Given the description of an element on the screen output the (x, y) to click on. 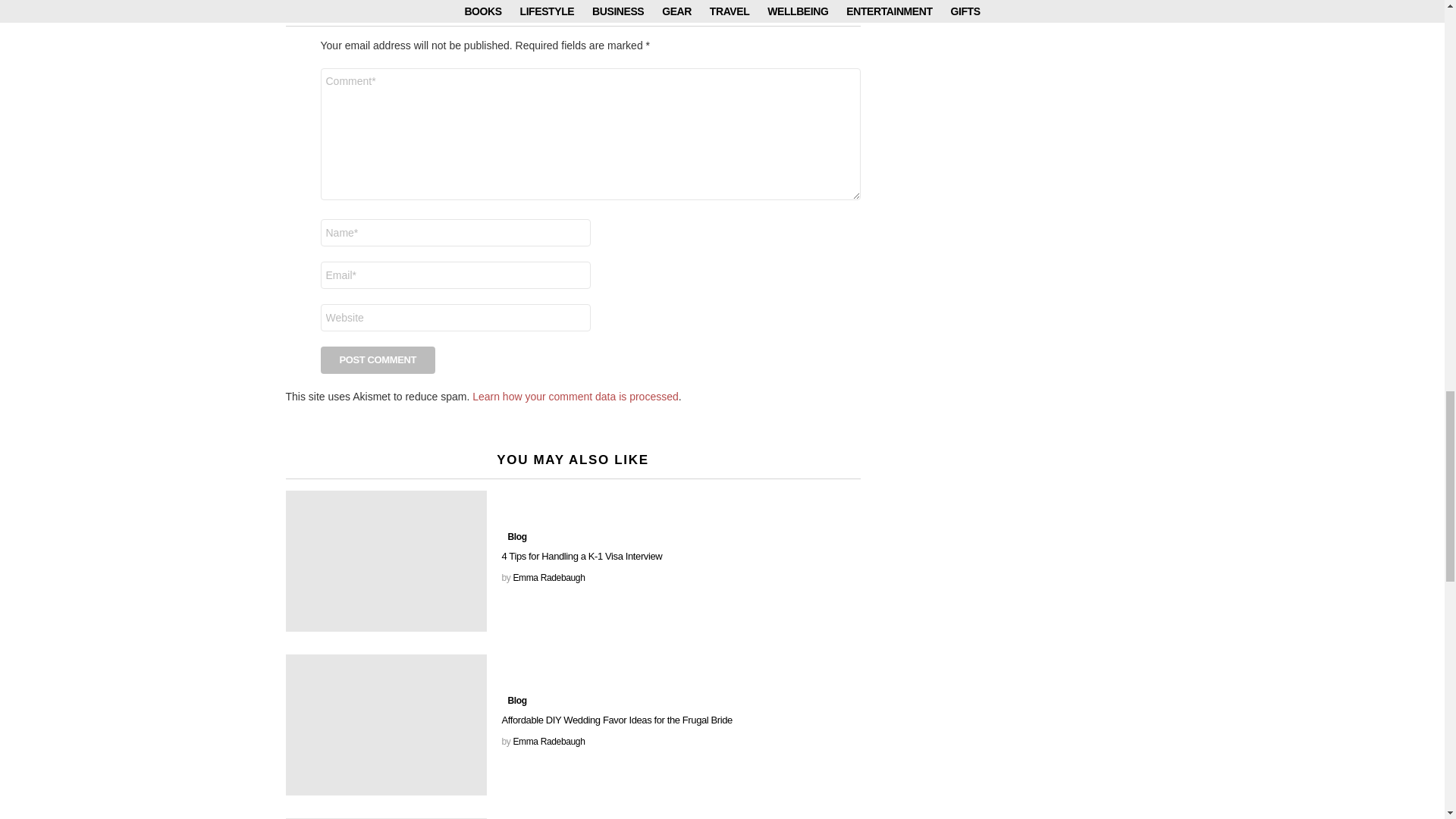
Posts by Emma Radebaugh (548, 741)
Affordable DIY Wedding Favor Ideas for the Frugal Bride (385, 724)
4 Tips for Handling a K-1 Visa Interview (385, 560)
Post Comment (377, 359)
Posts by Emma Radebaugh (548, 577)
